Given the description of an element on the screen output the (x, y) to click on. 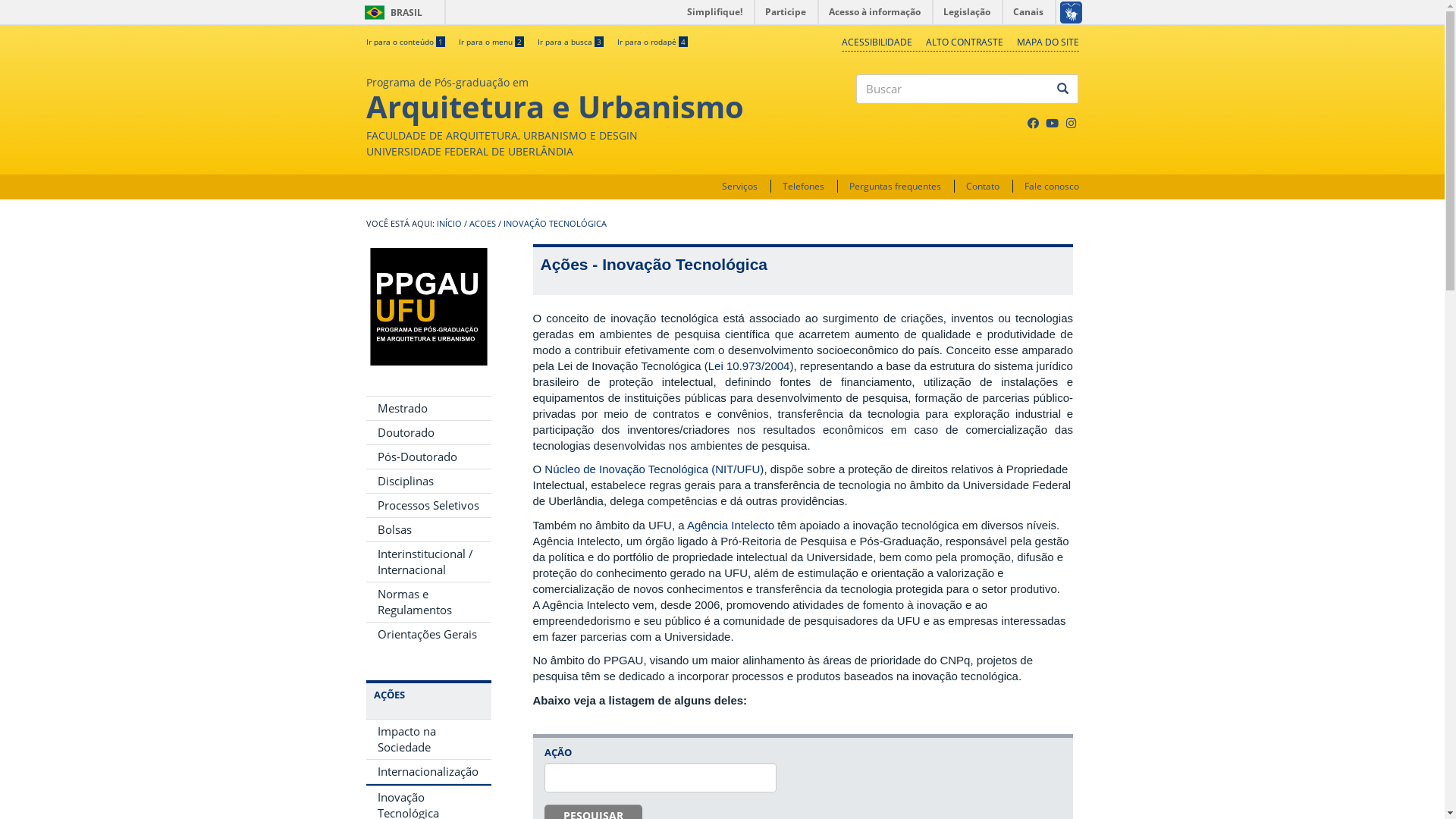
Disciplinas Element type: text (427, 480)
Telefones Element type: text (803, 185)
PPGAU Element type: hover (427, 306)
Processos Seletivos Element type: text (427, 505)
Normas e Regulamentos Element type: text (427, 601)
Ir para o menu 2 Element type: text (490, 41)
Buscar Element type: text (856, 116)
BRASIL Element type: text (373, 12)
Lei 10.973/2004 Element type: text (749, 365)
ACESSIBILIDADE Element type: text (876, 41)
Bolsas Element type: text (427, 529)
Doutorado Element type: text (427, 432)
Ir para a busca 3 Element type: text (569, 41)
Contato Element type: text (982, 185)
ACOES Element type: text (481, 223)
Interinstitucional / Internacional Element type: text (427, 561)
ALTO CONTRASTE Element type: text (963, 41)
MAPA DO SITE Element type: text (1047, 41)
Impacto na Sociedade Element type: text (427, 739)
Perguntas frequentes Element type: text (895, 185)
Fale conosco Element type: text (1050, 185)
Mestrado Element type: text (427, 408)
